Given the description of an element on the screen output the (x, y) to click on. 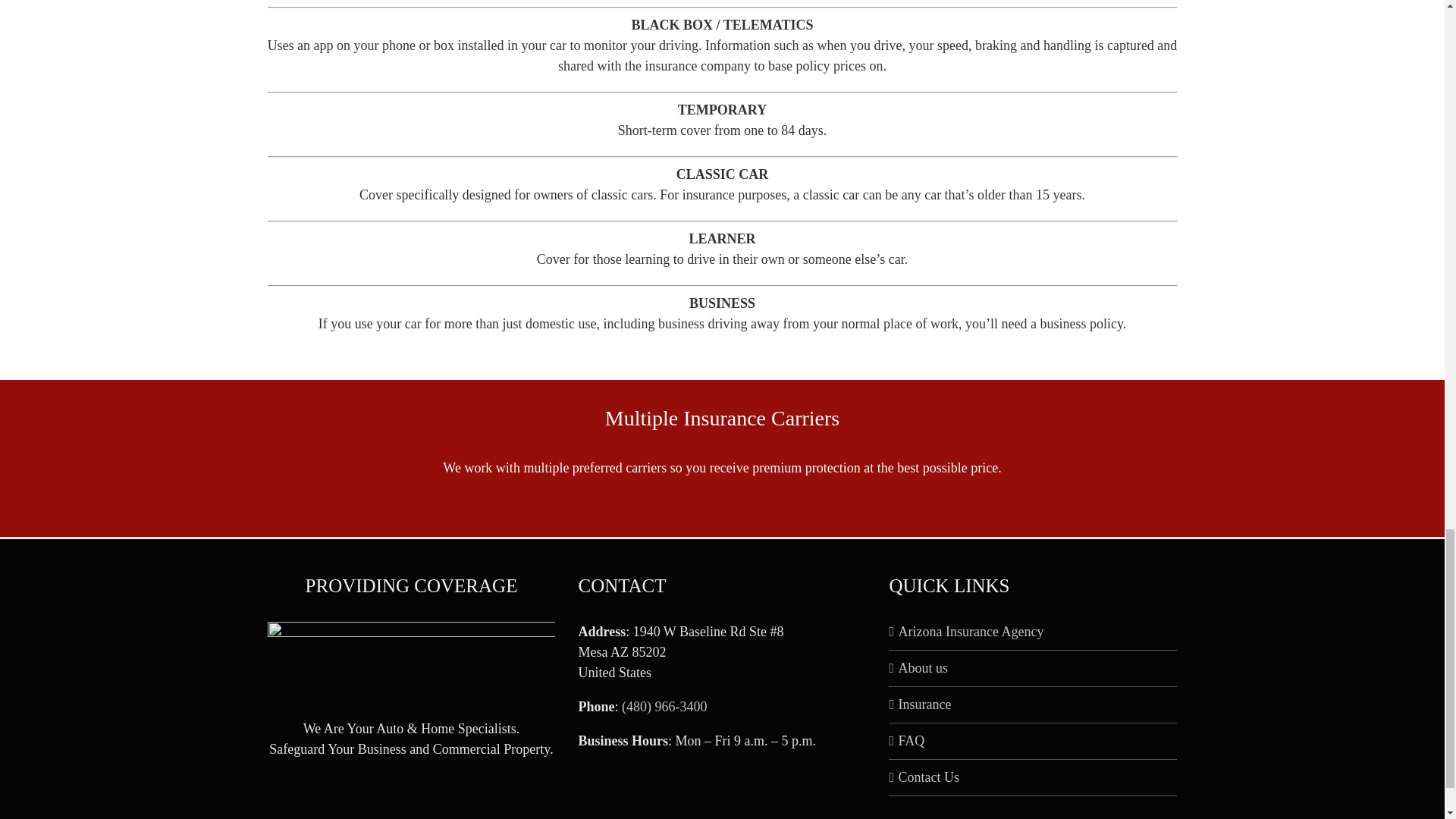
Arizona Insurance Agency (1033, 631)
About us (1033, 668)
Contact Us (1033, 777)
Insurance (1033, 704)
FAQ (1033, 741)
